Given the description of an element on the screen output the (x, y) to click on. 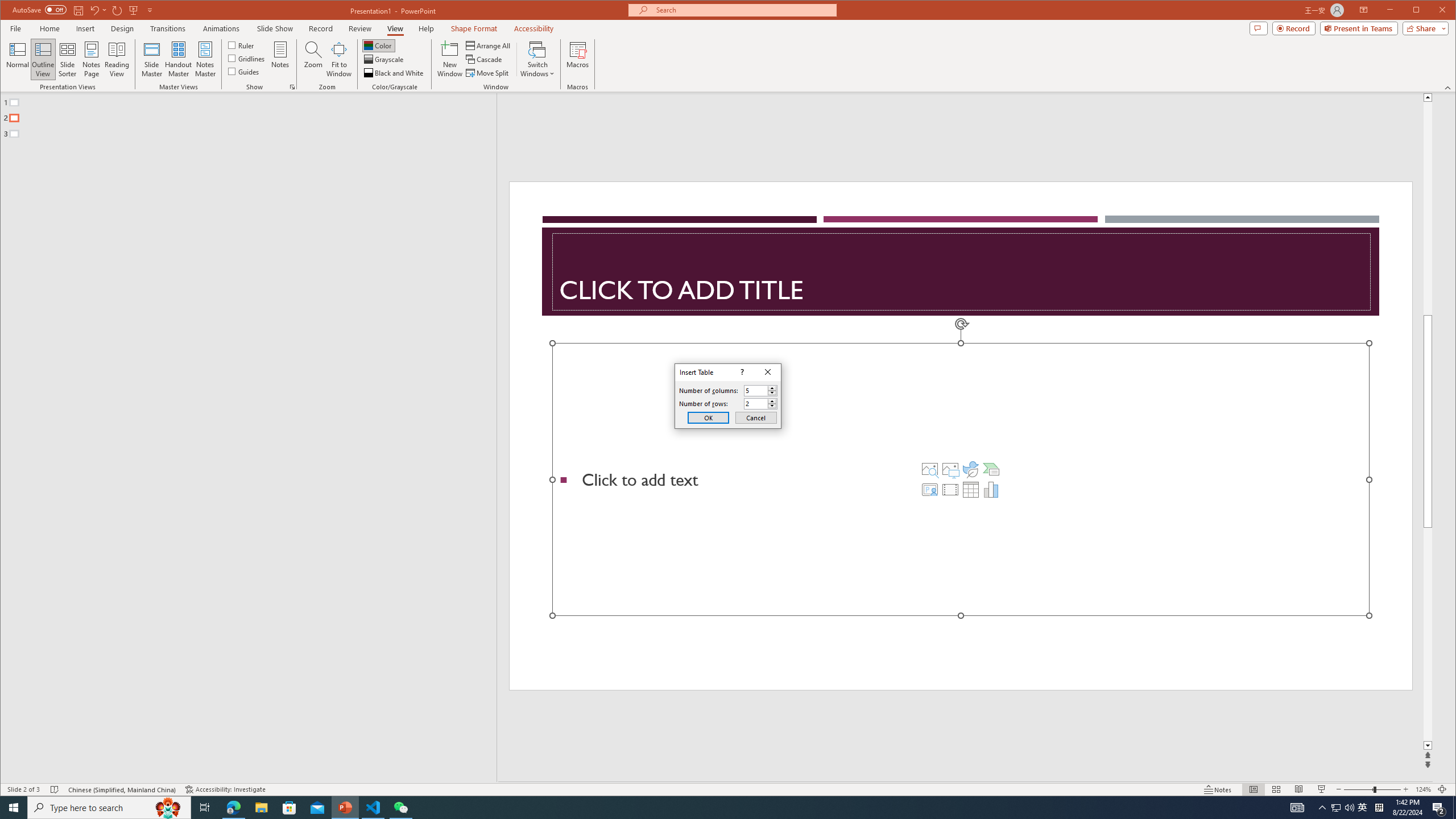
Shape Format (473, 28)
Insert Cameo (929, 489)
Type here to search (1362, 807)
Number of rows (108, 807)
